Given the description of an element on the screen output the (x, y) to click on. 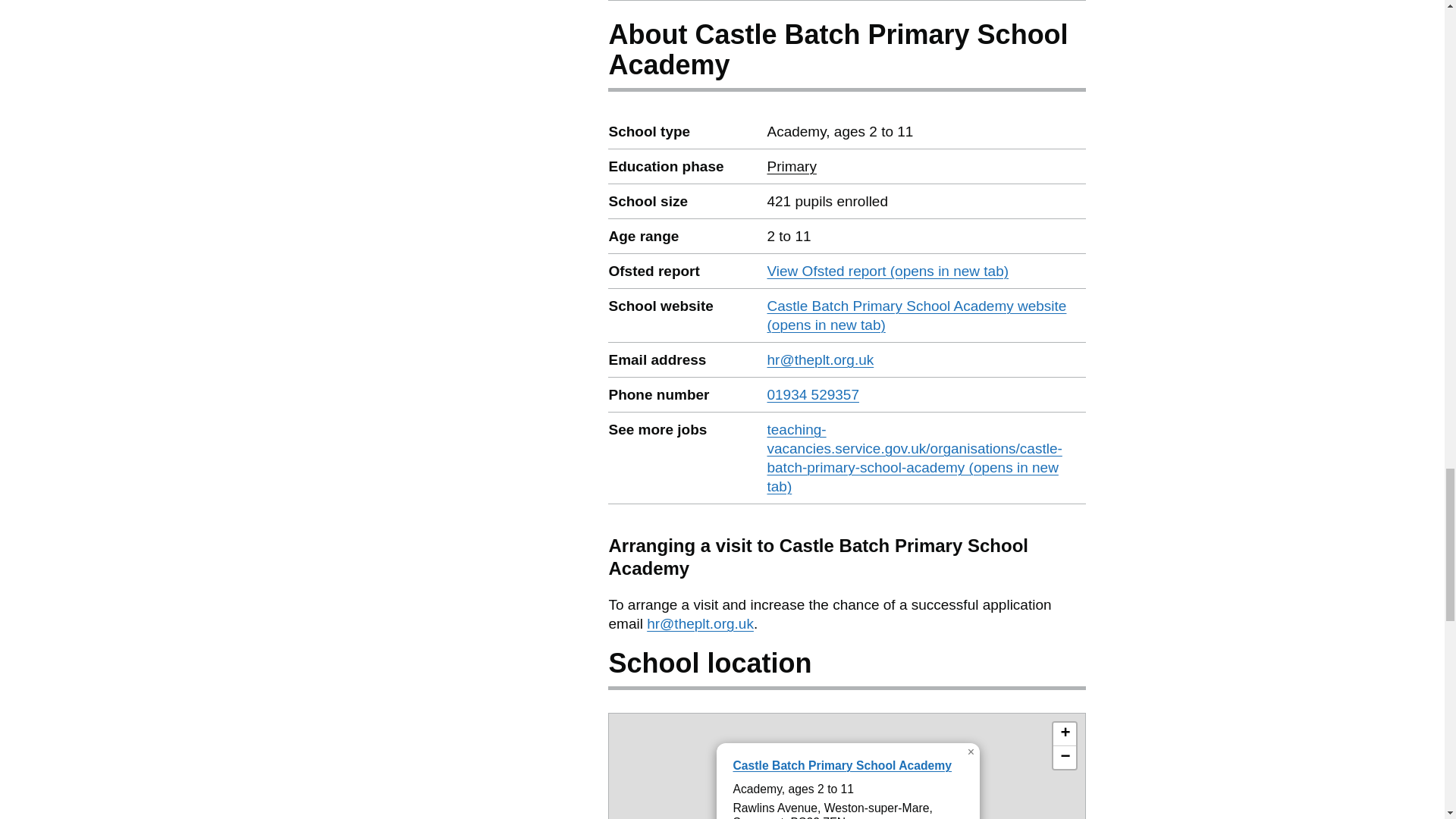
01934 529357 (813, 394)
Zoom in (791, 166)
Zoom out (1063, 734)
Castle Batch Primary School Academy (1063, 757)
